Given the description of an element on the screen output the (x, y) to click on. 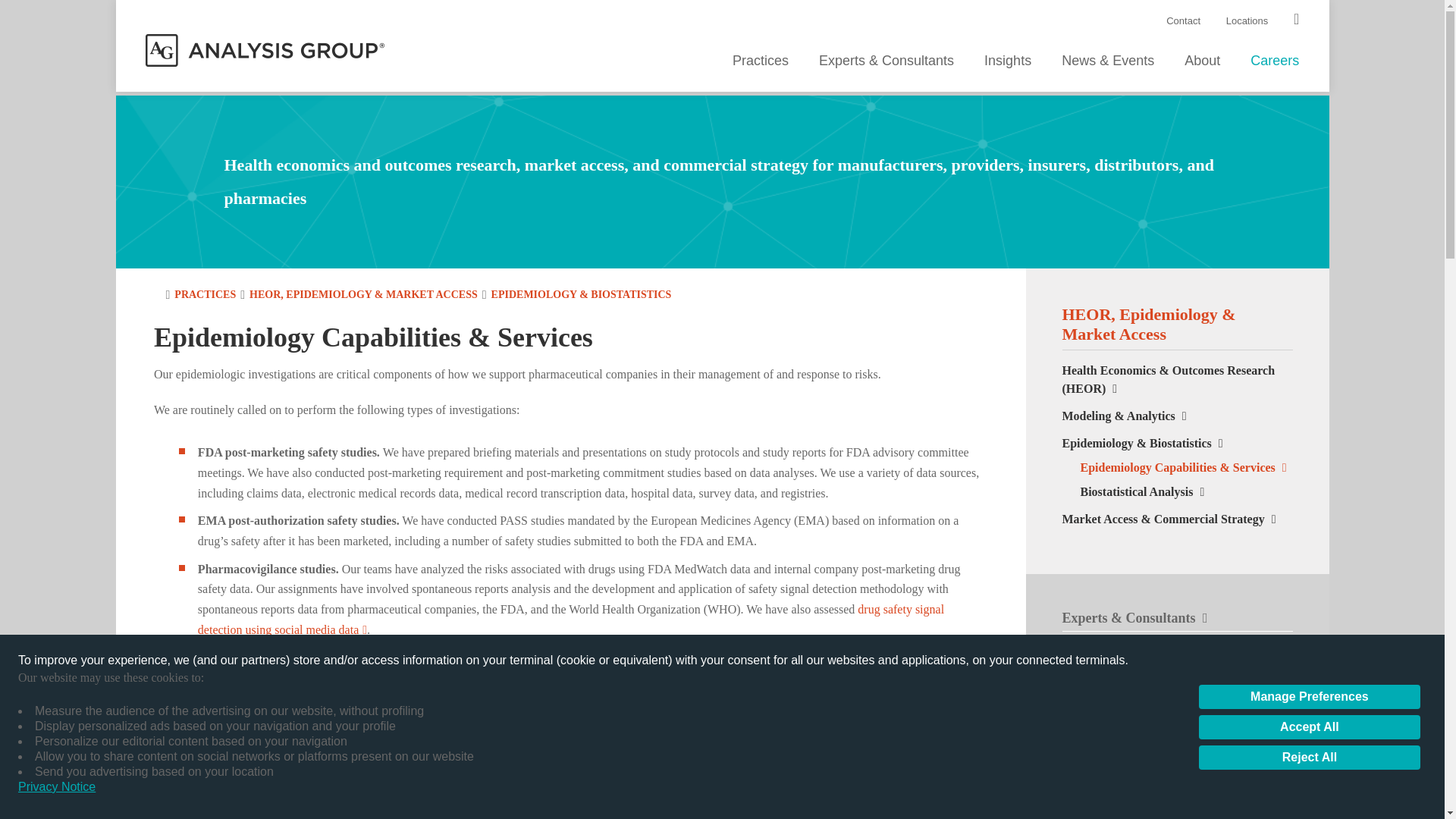
Privacy Notice (56, 786)
Contact (1182, 20)
Accept All (1309, 726)
Locations (1246, 20)
Practices (760, 62)
Manage Preferences (1309, 696)
Reject All (1309, 757)
